Given the description of an element on the screen output the (x, y) to click on. 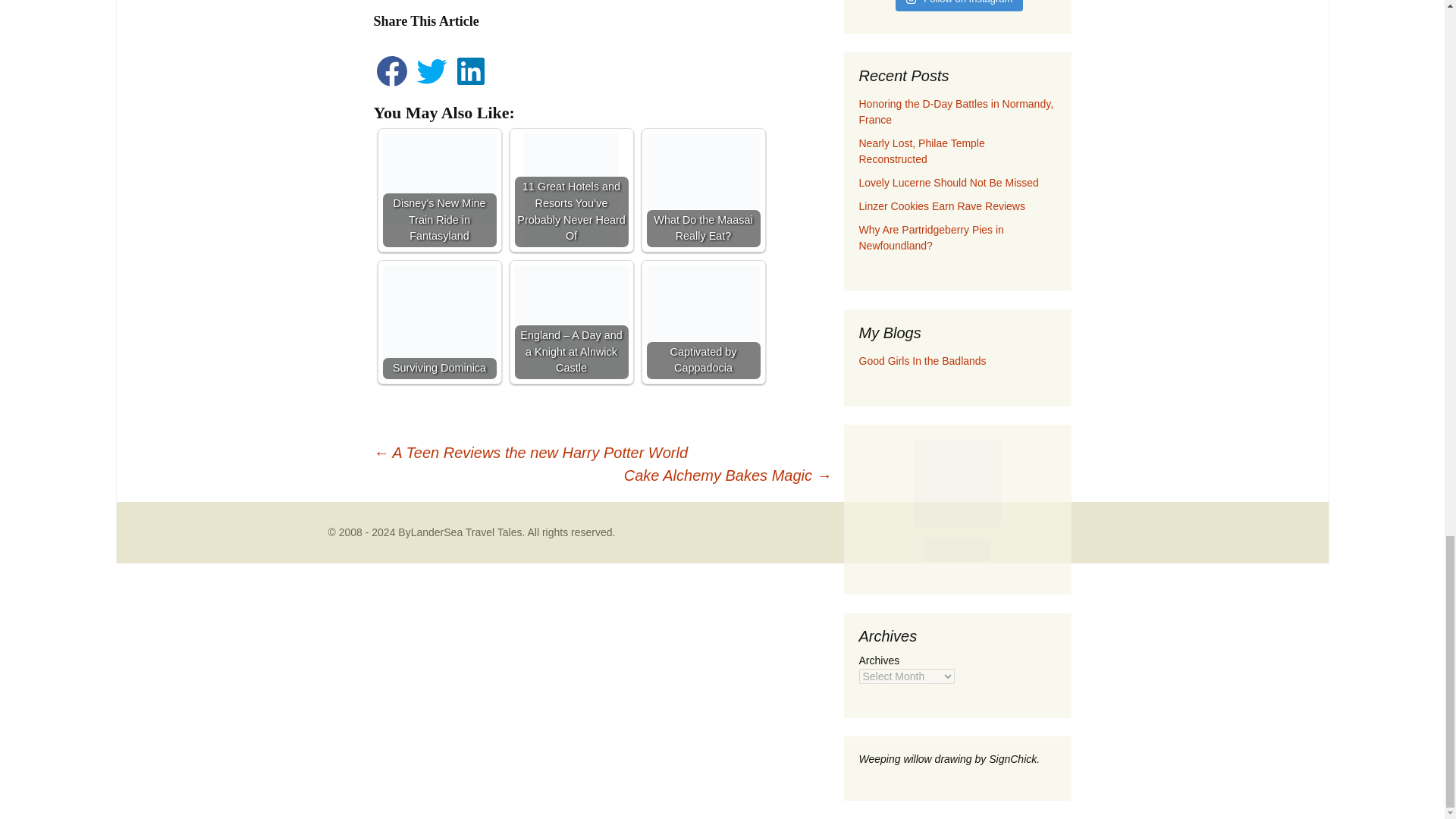
Captivated by Cappadocia (703, 303)
Share on Twitter (432, 84)
What Do the Maasai Really Eat? (703, 171)
Disney's New Mine Train Ride in Fantasyland (438, 178)
Share on Facebook (392, 84)
Surviving Dominica (438, 322)
Share on LinkedIn (470, 84)
